Given the description of an element on the screen output the (x, y) to click on. 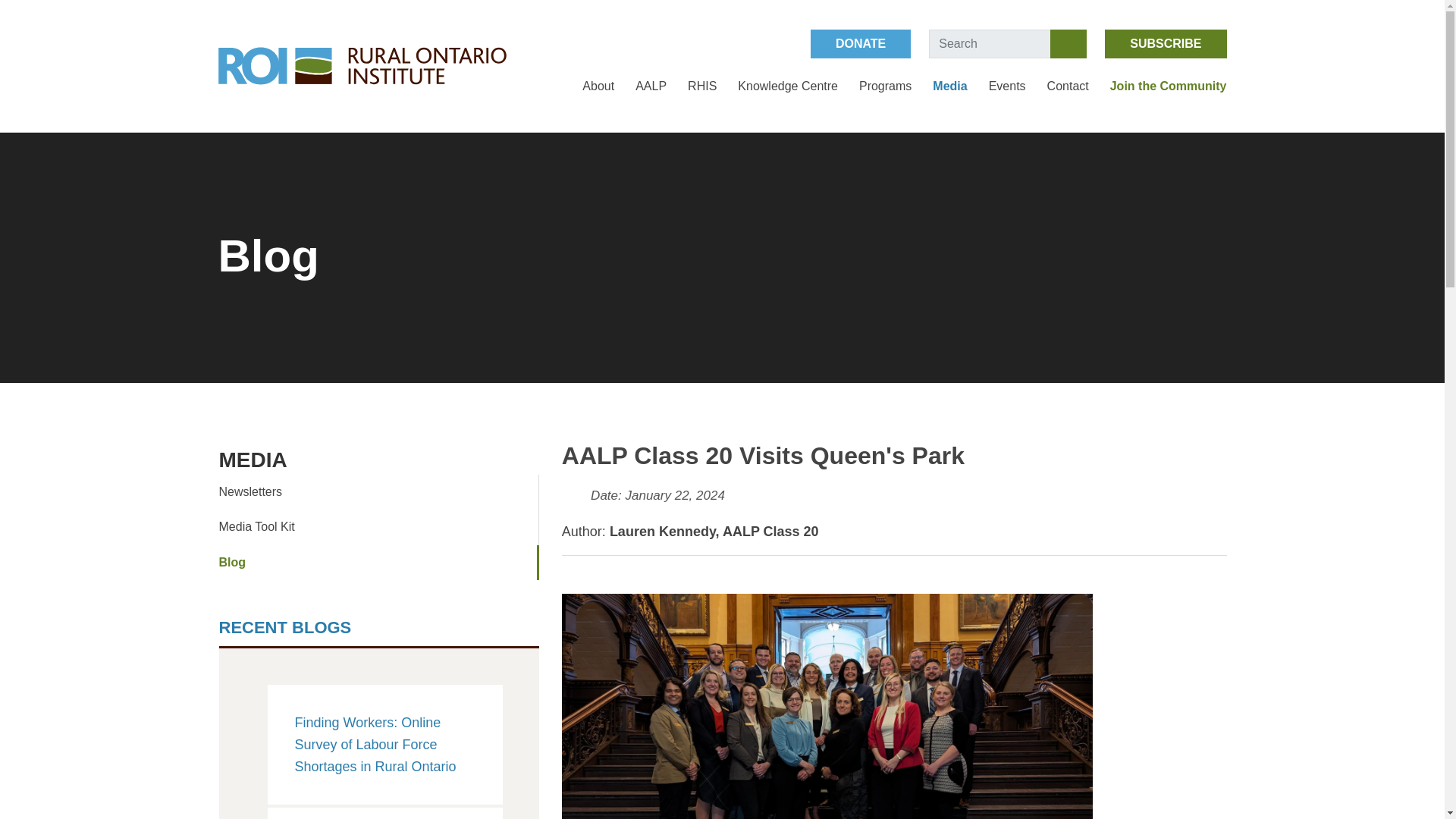
SEARCH (1067, 43)
AALP (650, 86)
SUBSCRIBE (1165, 43)
About (598, 86)
RHIS (701, 86)
Programs (885, 86)
DONATE (860, 43)
Knowledge Centre (788, 86)
